Given the description of an element on the screen output the (x, y) to click on. 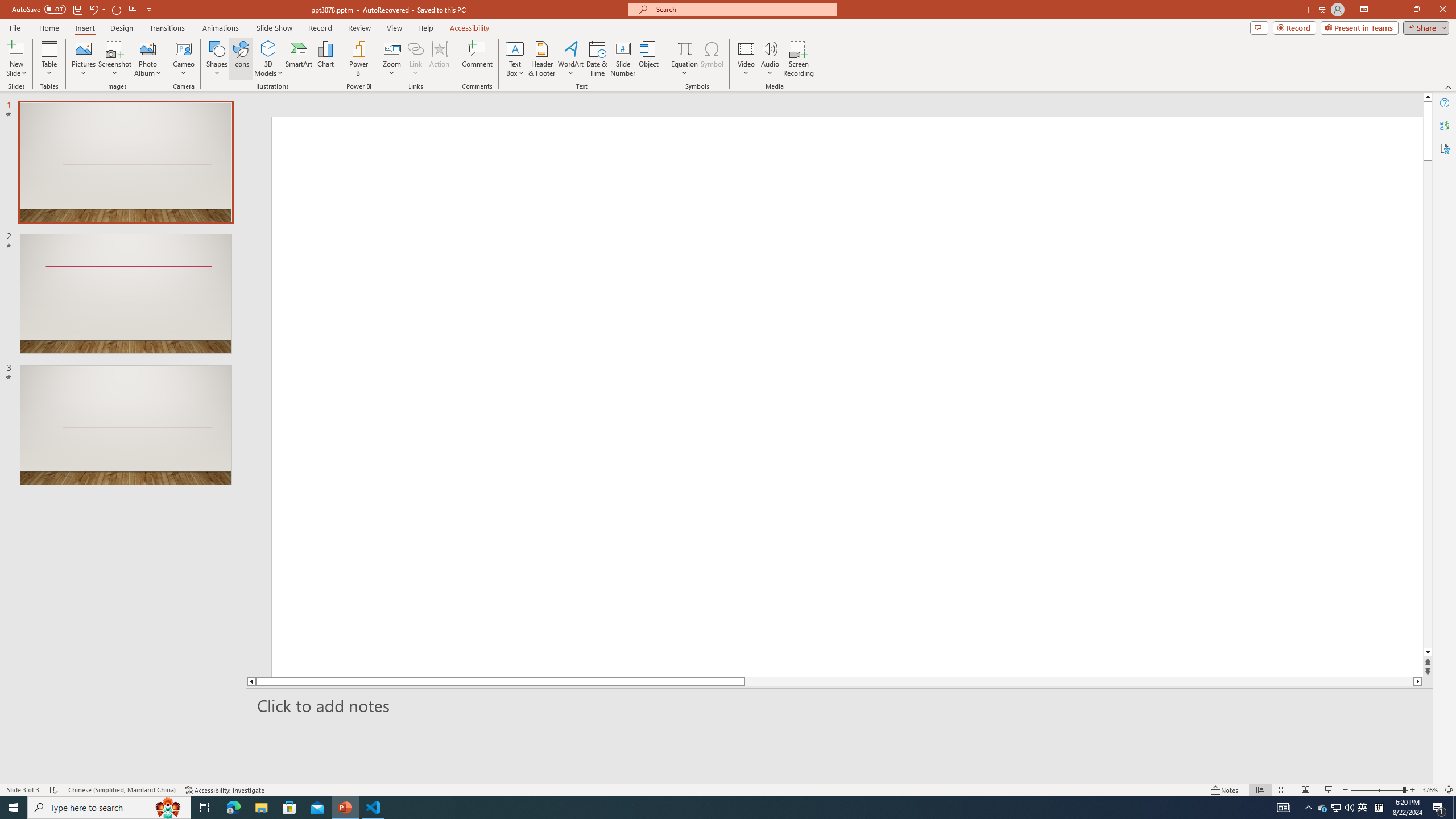
An abstract genetic concept (834, 395)
Header & Footer... (541, 58)
Slide Number (622, 58)
WordArt (570, 58)
Screenshot (114, 58)
Table (49, 58)
